Given the description of an element on the screen output the (x, y) to click on. 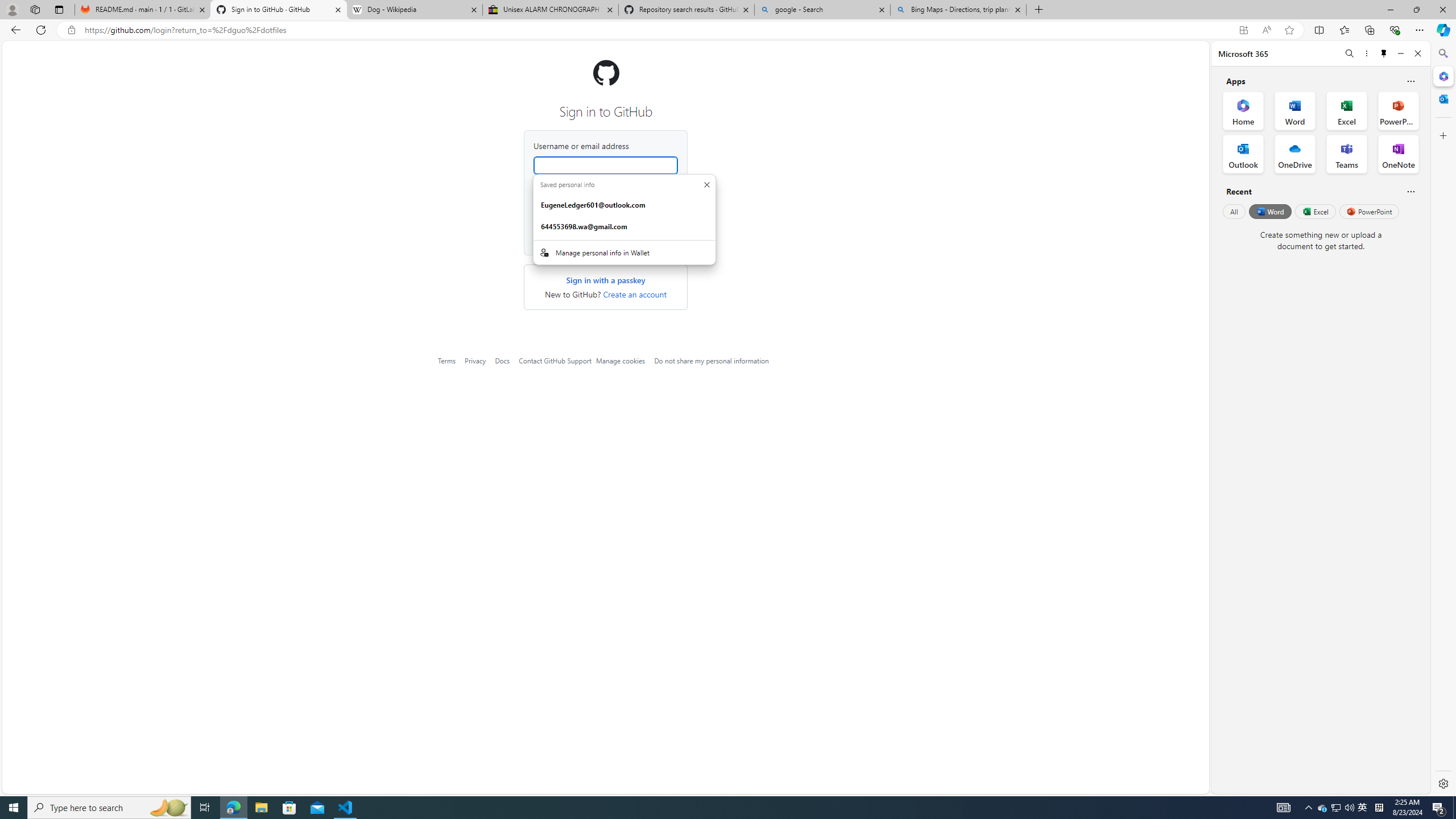
Unpin side pane (1383, 53)
Contact GitHub Support (554, 360)
App bar (728, 29)
Dog - Wikipedia (414, 9)
Is this helpful? (1410, 191)
Create an account (634, 294)
Terms (446, 360)
Password (605, 208)
Sign in (605, 236)
Forgot password? (651, 188)
Privacy (475, 360)
